Given the description of an element on the screen output the (x, y) to click on. 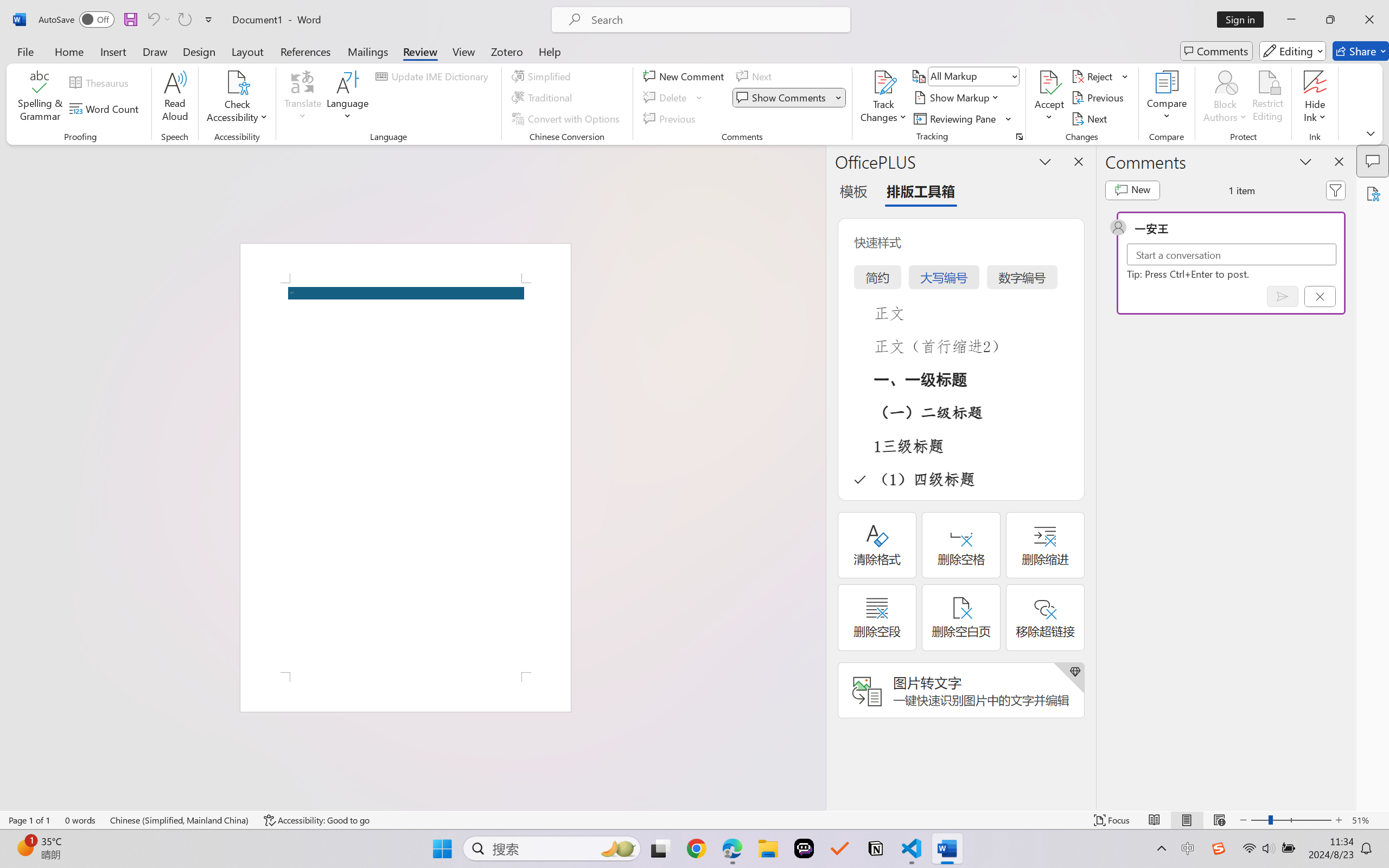
Accessibility Assistant (1373, 193)
Block Authors (1224, 81)
Show Markup (957, 97)
Cancel (1320, 296)
Undo Apply Quick Style Set (152, 19)
Previous (1099, 97)
